Given the description of an element on the screen output the (x, y) to click on. 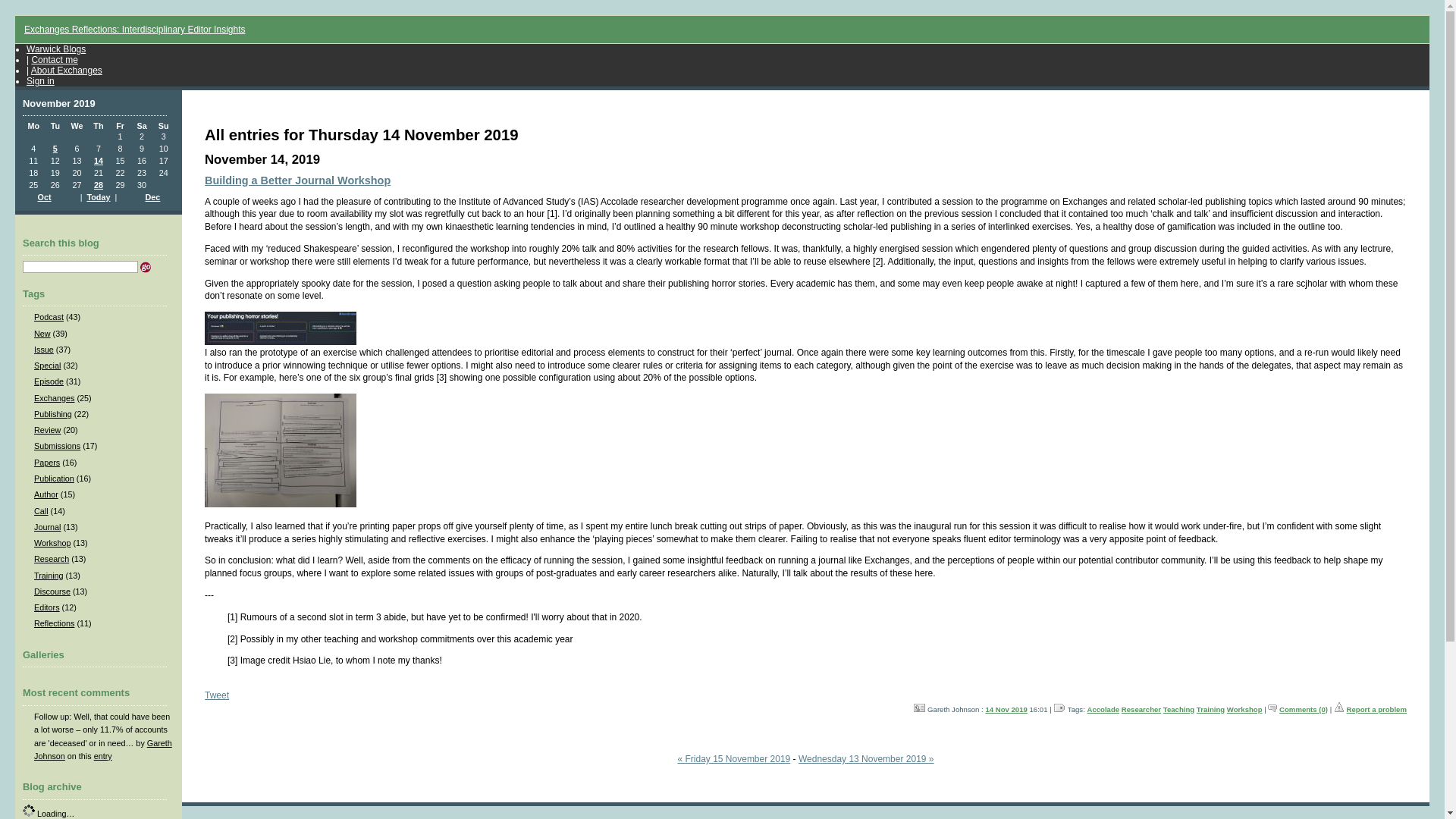
1 entry on 28 November 2019 (98, 184)
1 entry on 14 November 2019 (98, 160)
Workshop (1244, 709)
Sign in (40, 81)
About Exchanges (65, 70)
Oct (43, 196)
Podcast (48, 316)
Contact me (53, 59)
November 2019 (59, 102)
14 Nov 2019 (1005, 709)
